Given the description of an element on the screen output the (x, y) to click on. 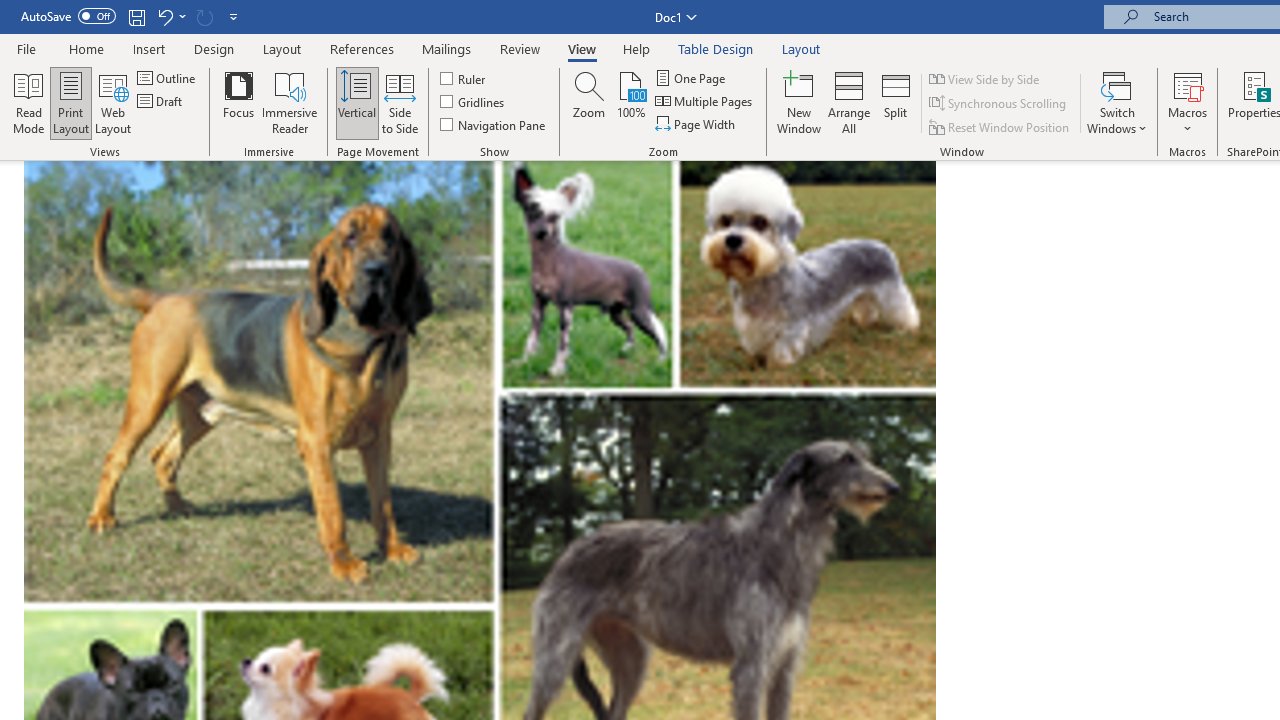
Focus (238, 102)
Side to Side (399, 102)
Split (895, 102)
Zoom... (589, 102)
Can't Repeat (204, 15)
Gridlines (473, 101)
Page Width (696, 124)
Macros (1187, 102)
